Given the description of an element on the screen output the (x, y) to click on. 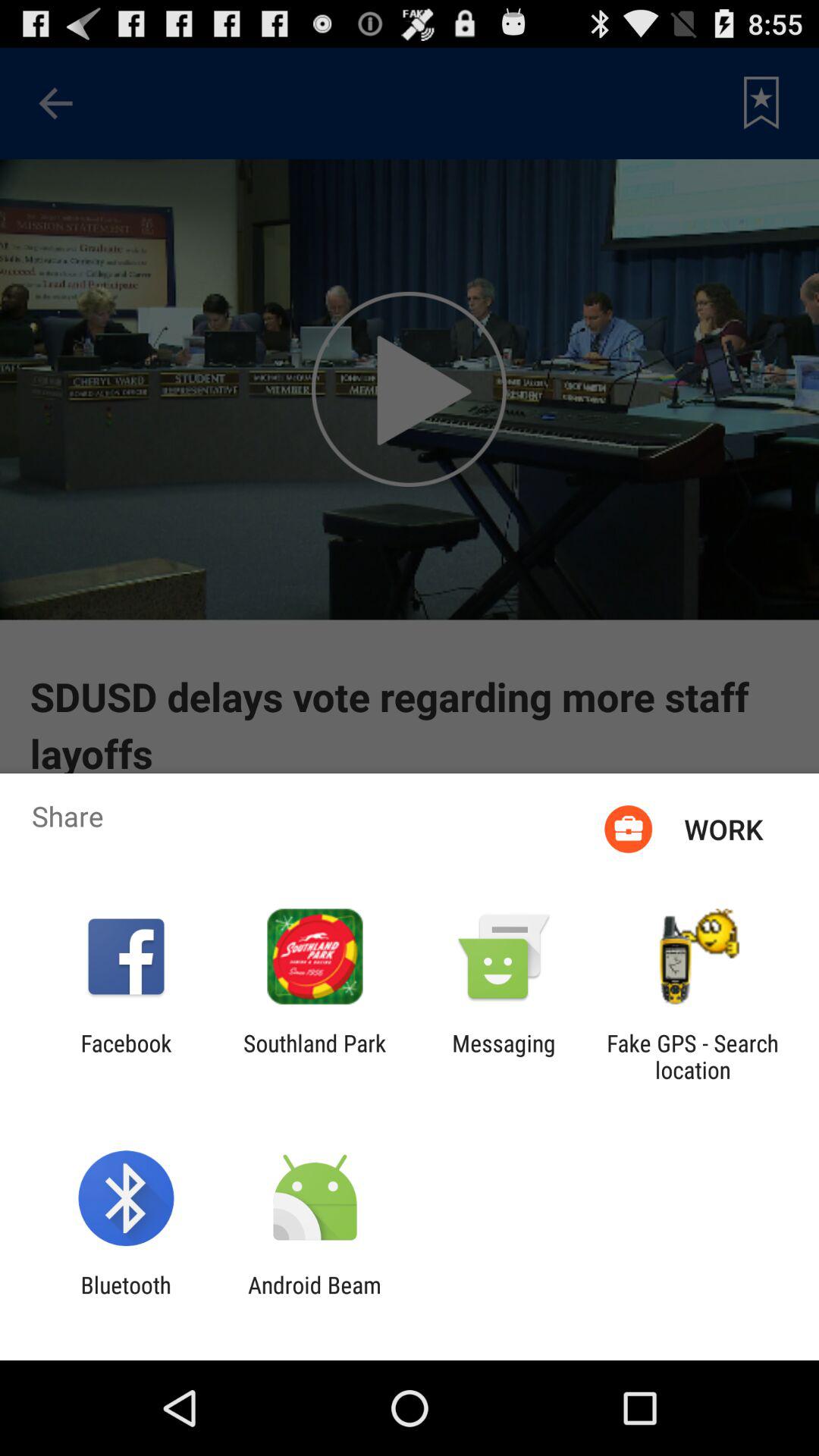
select the app to the right of the facebook icon (314, 1056)
